Given the description of an element on the screen output the (x, y) to click on. 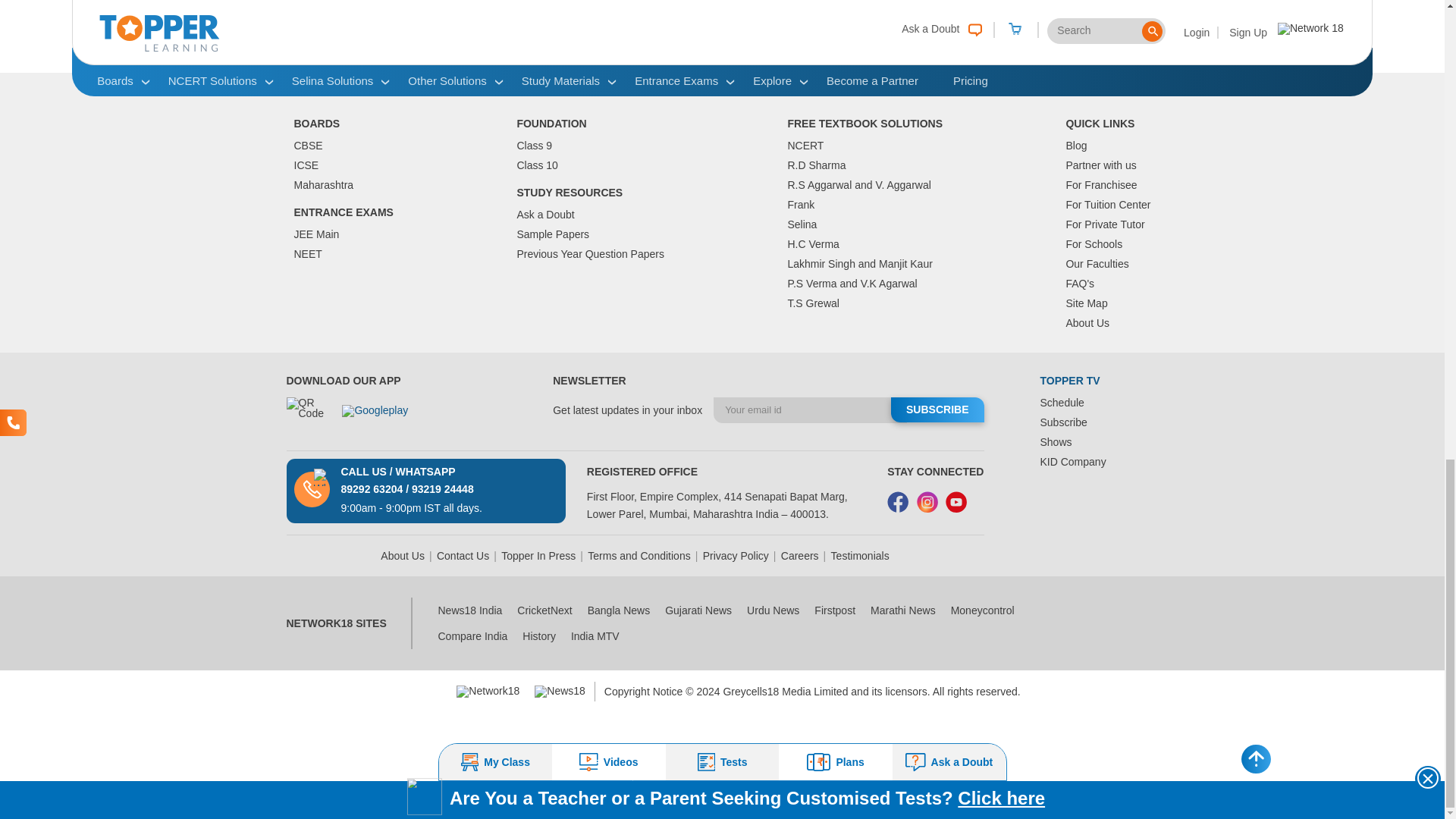
QR Code (307, 417)
Googleplay (385, 417)
